Given the description of an element on the screen output the (x, y) to click on. 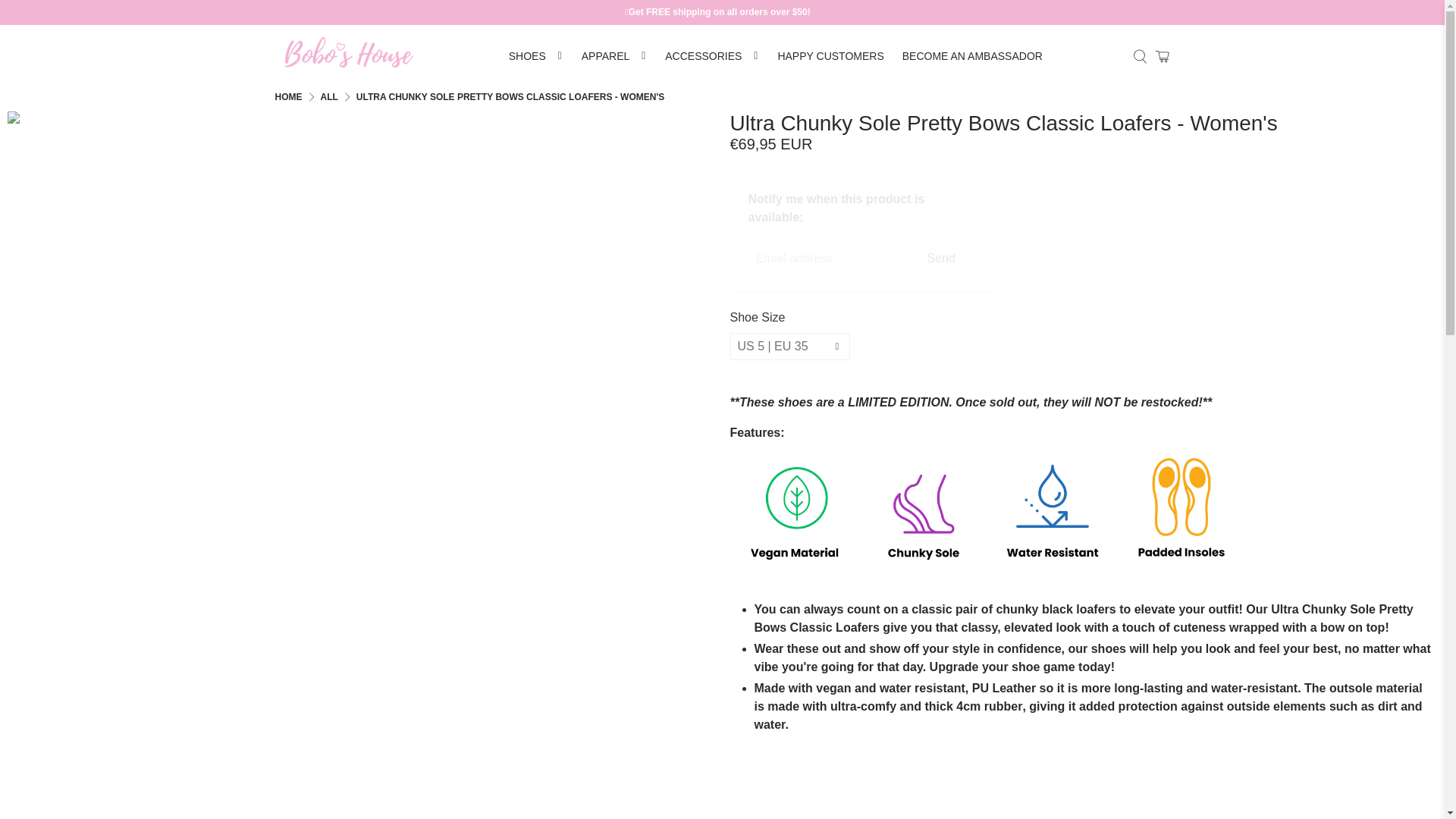
APPAREL (614, 56)
Bobo's House (288, 96)
Send (941, 257)
Bobo's House (347, 56)
SHOES (535, 56)
ACCESSORIES (712, 56)
HAPPY CUSTOMERS (830, 56)
BECOME AN AMBASSADOR (972, 56)
